Given the description of an element on the screen output the (x, y) to click on. 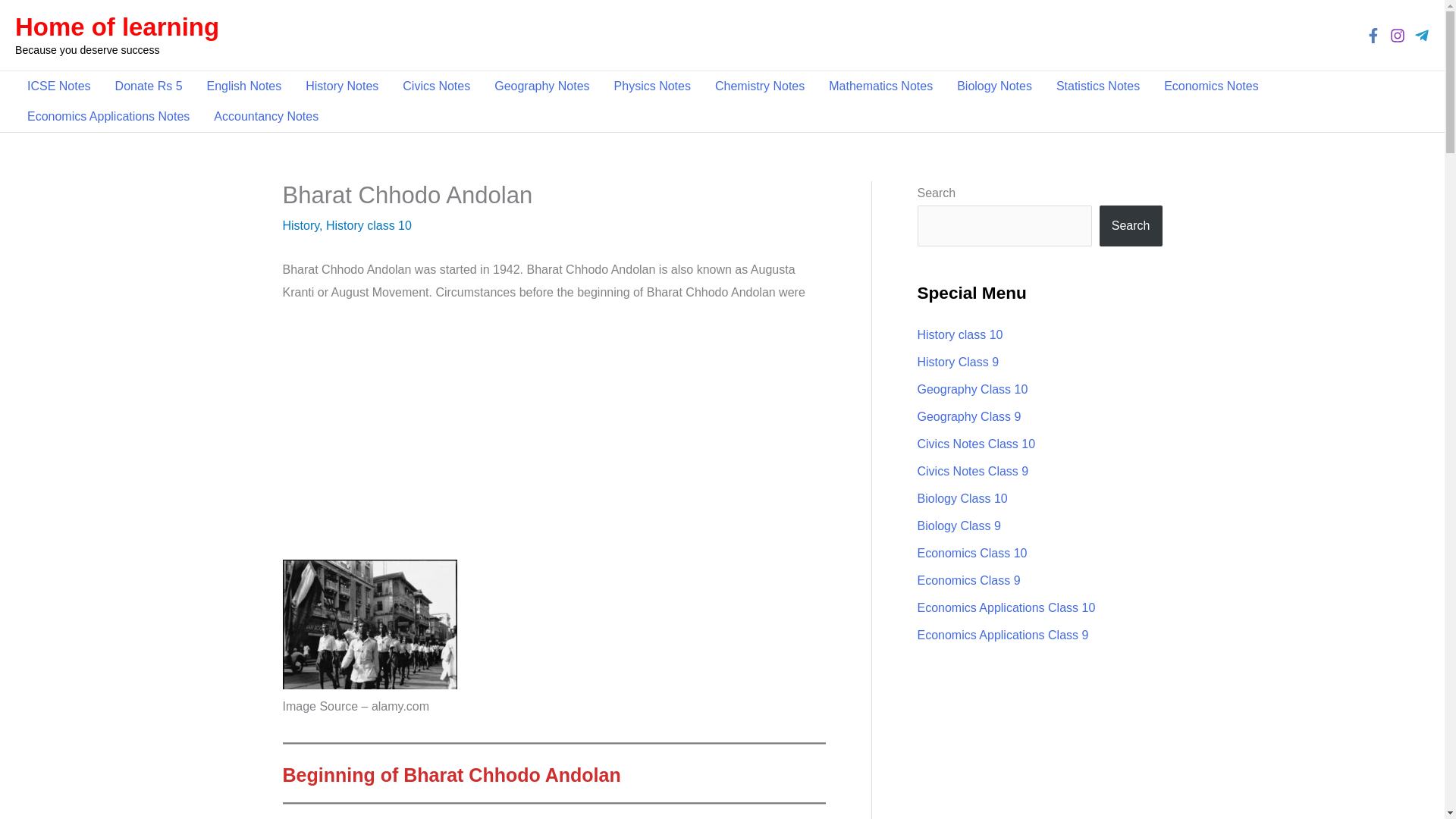
Mathematics Notes (880, 86)
Economics Applications Notes (108, 116)
History Notes (342, 86)
History Class 9 (957, 361)
ICSE Notes (58, 86)
Search (1130, 225)
History class 10 (369, 225)
English Notes (244, 86)
Statistics Notes (1097, 86)
Physics Notes (652, 86)
